Given the description of an element on the screen output the (x, y) to click on. 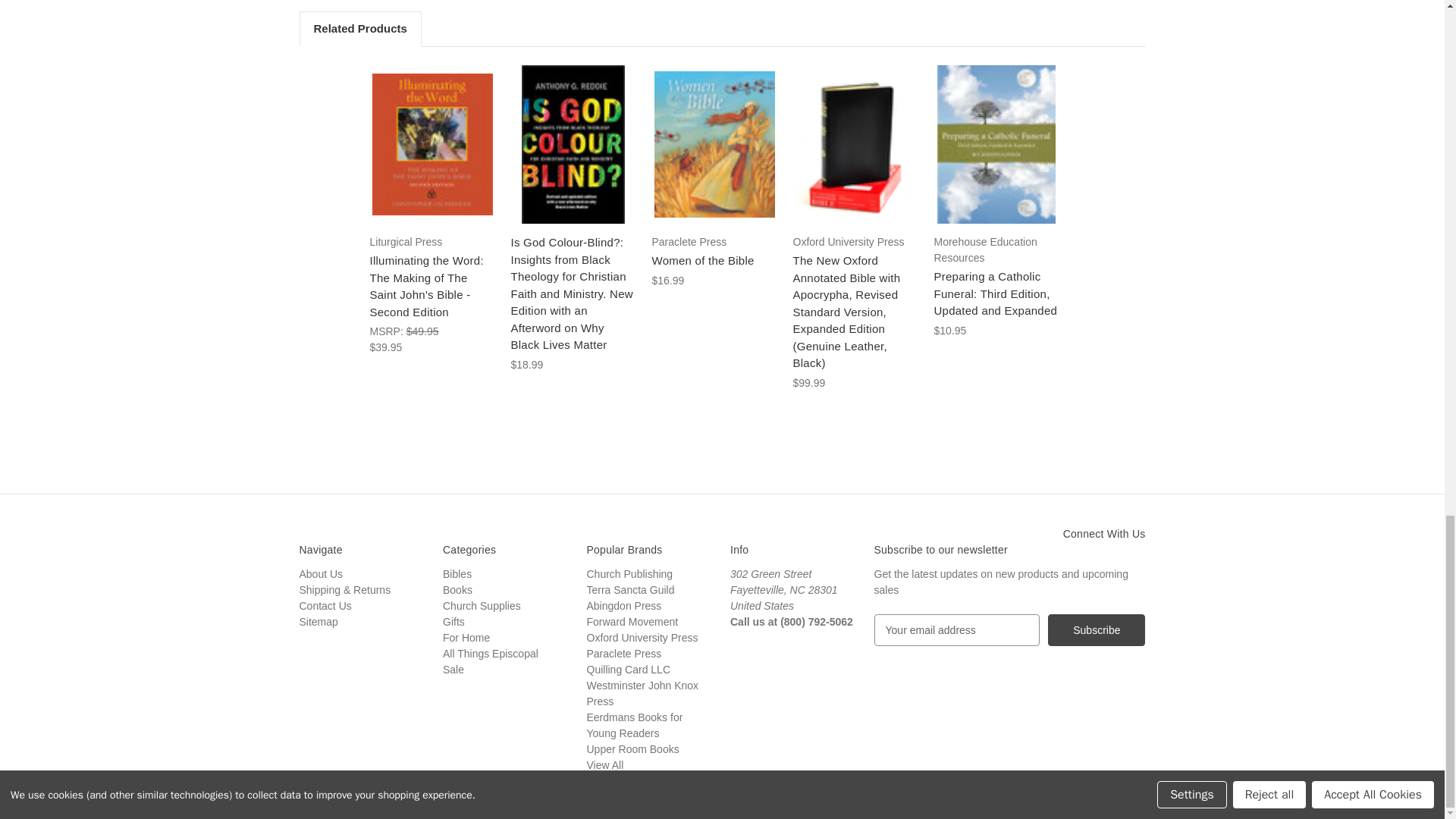
Subscribe (1096, 630)
